Given the description of an element on the screen output the (x, y) to click on. 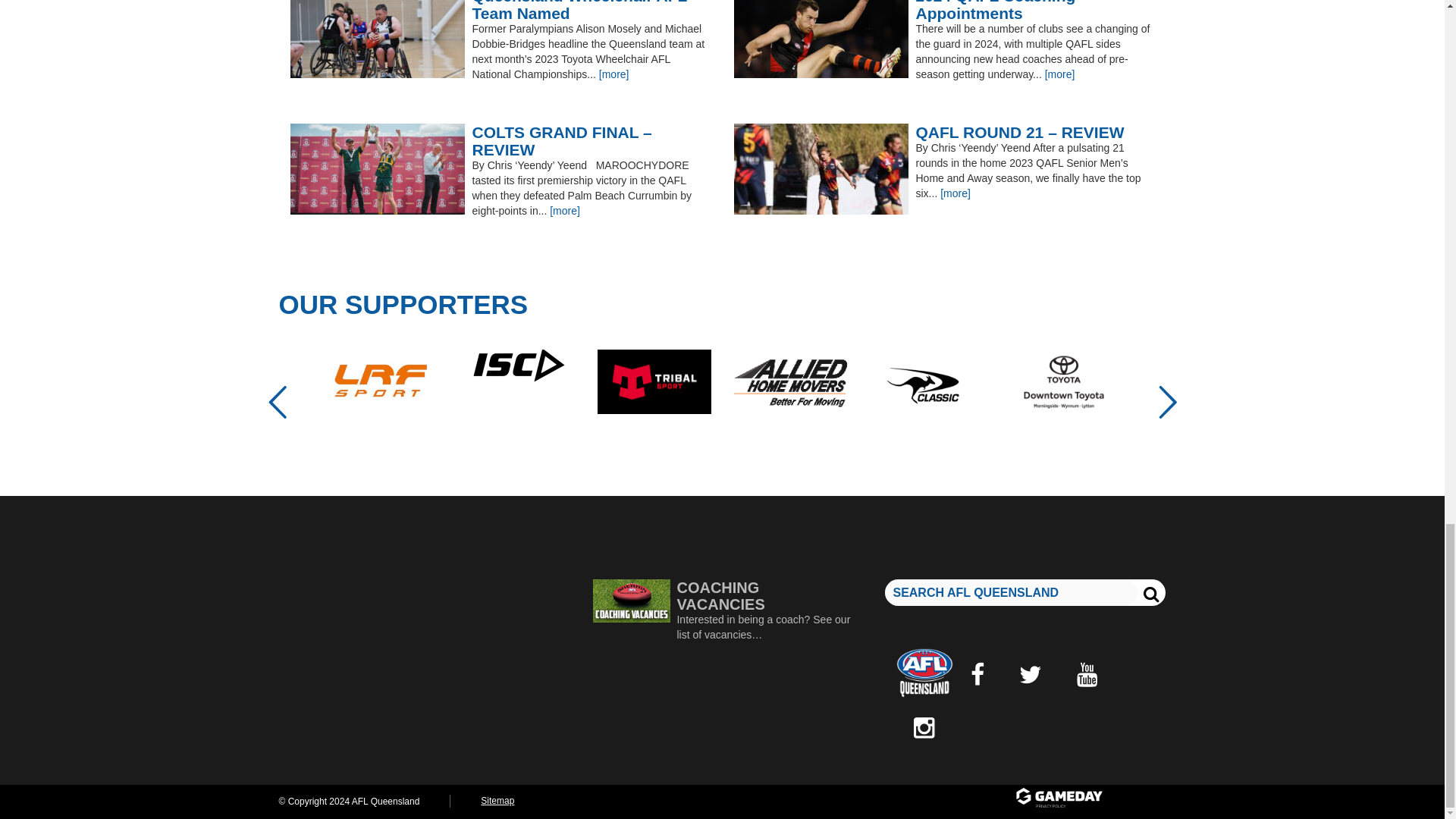
Powered by SportsTG (1089, 798)
2024 QAFL Coaching Appointments (943, 11)
Queensland Wheelchair AFL Team Named (499, 11)
